Given the description of an element on the screen output the (x, y) to click on. 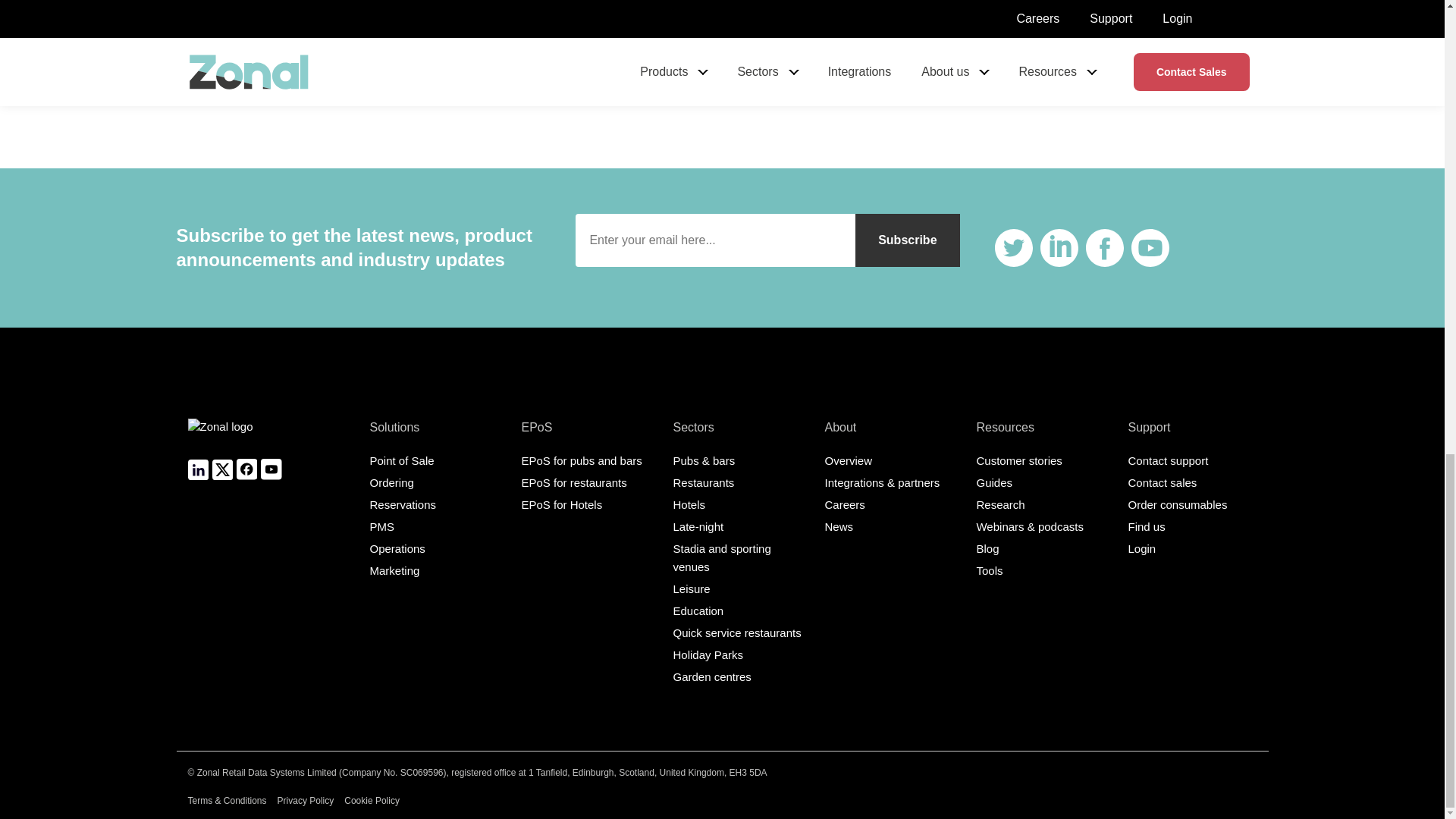
This is the Twitter logo (1013, 247)
This is the Facebook logo (1105, 247)
Subscribe (907, 239)
Back to homepage (220, 437)
This is the LinkedIn logo (1059, 247)
This is the Youtube icon (1150, 247)
